Given the description of an element on the screen output the (x, y) to click on. 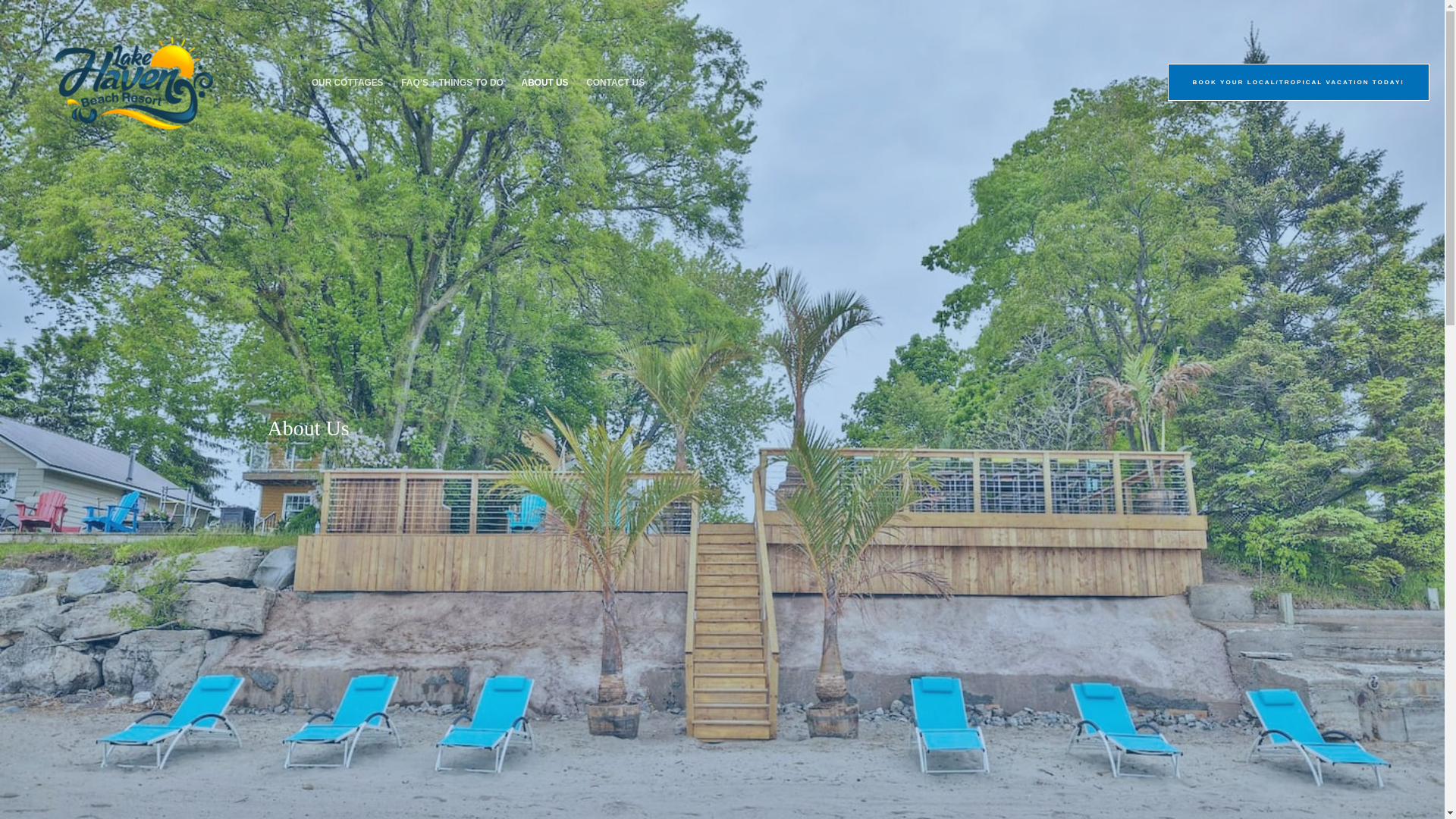
CONTACT US (614, 83)
ABOUT US (545, 83)
OUR COTTAGES (346, 83)
